Given the description of an element on the screen output the (x, y) to click on. 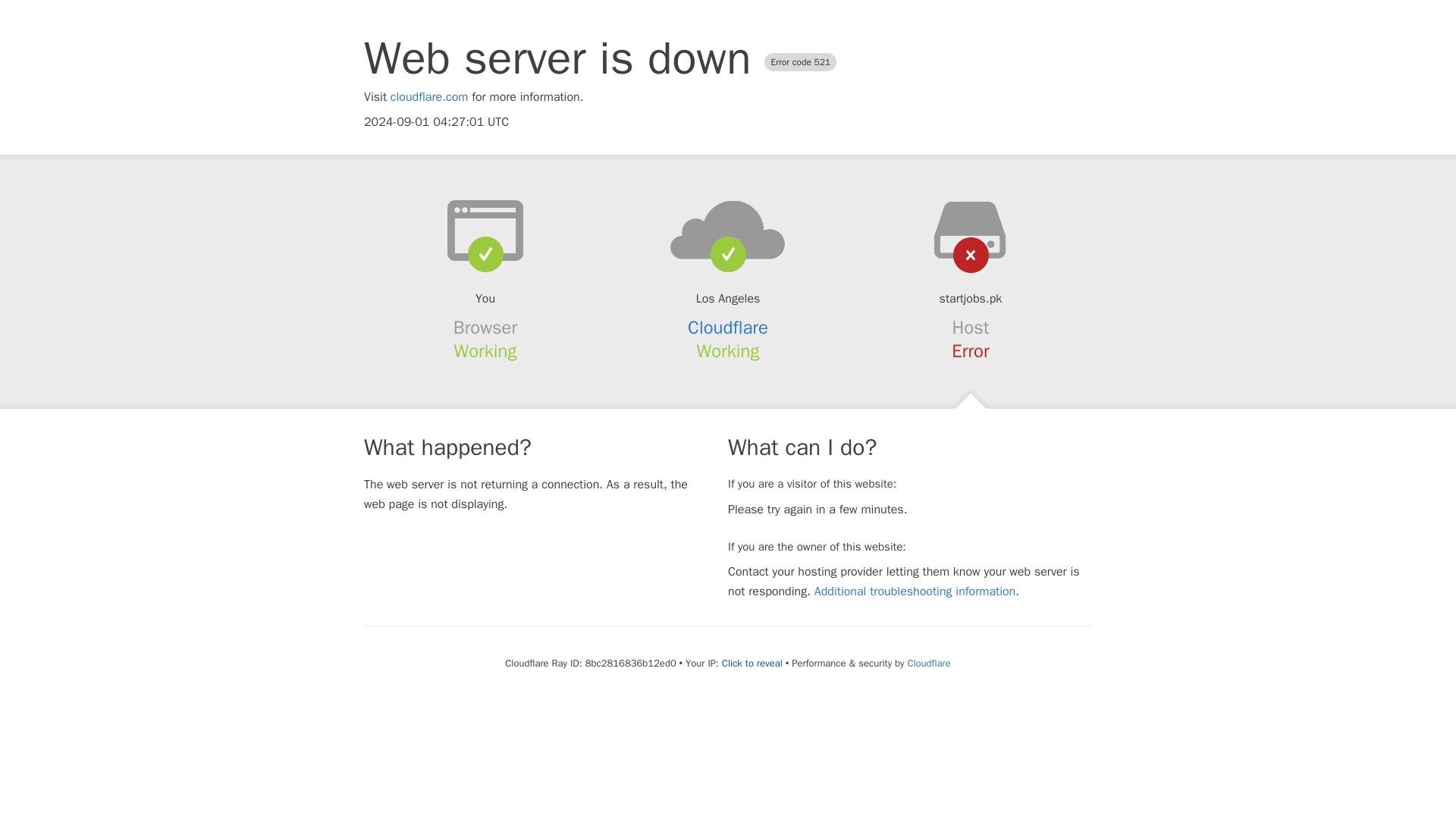
cloudflare.com (429, 96)
Cloudflare (928, 662)
Click to reveal (752, 663)
Cloudflare (727, 327)
Additional troubleshooting information (913, 590)
